Given the description of an element on the screen output the (x, y) to click on. 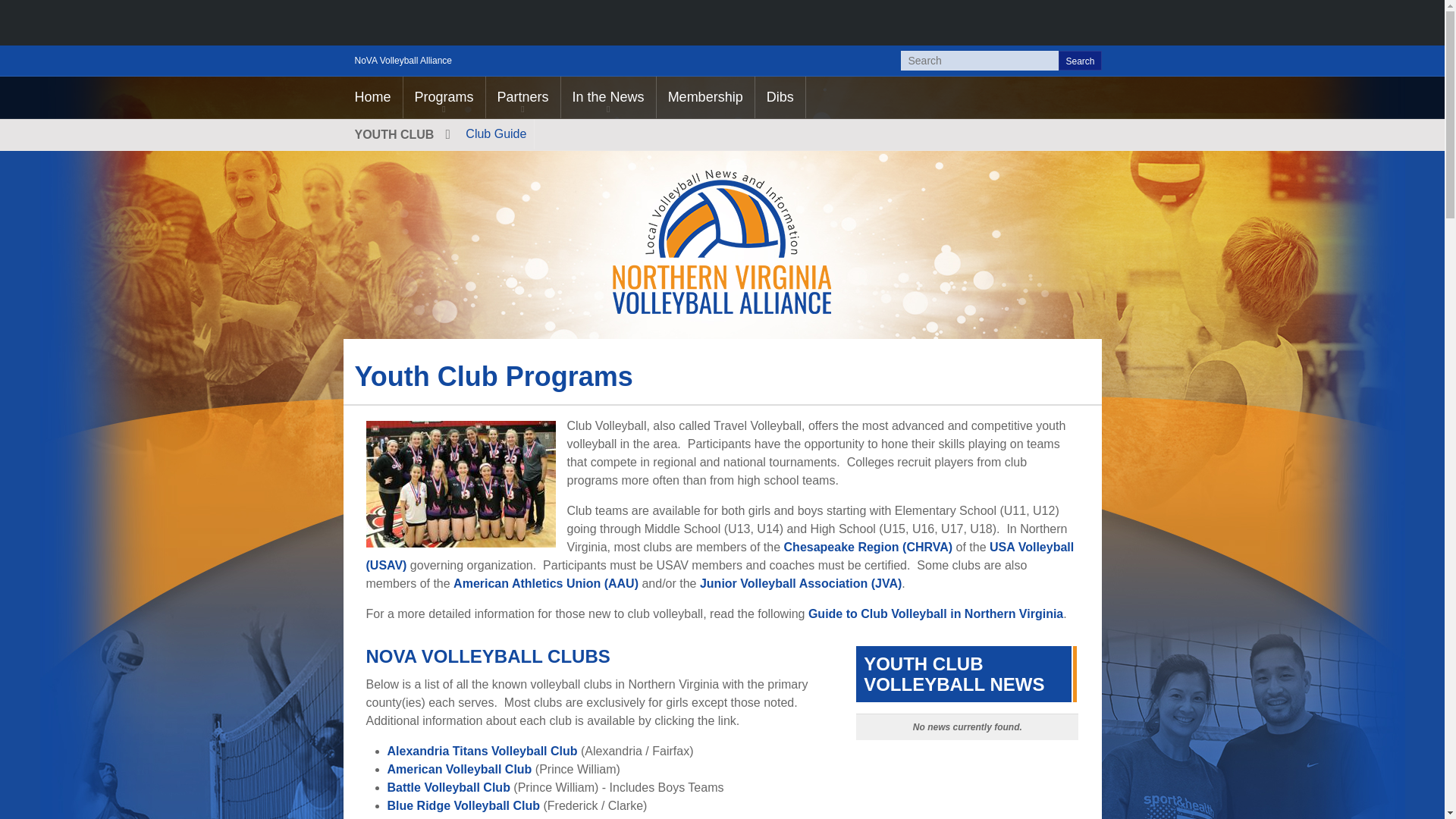
click to go to 'Home' (371, 96)
Partners (523, 96)
Club Guide (496, 133)
click to go to 'NoVA Volleyball Alliance Partners' (523, 96)
Guide to Club Volleyball in Northern Virginia (935, 612)
Blue Ridge Volleyball Club (463, 805)
click to go to 'Membership' (705, 96)
Dibs (780, 96)
Membership (705, 96)
